Given the description of an element on the screen output the (x, y) to click on. 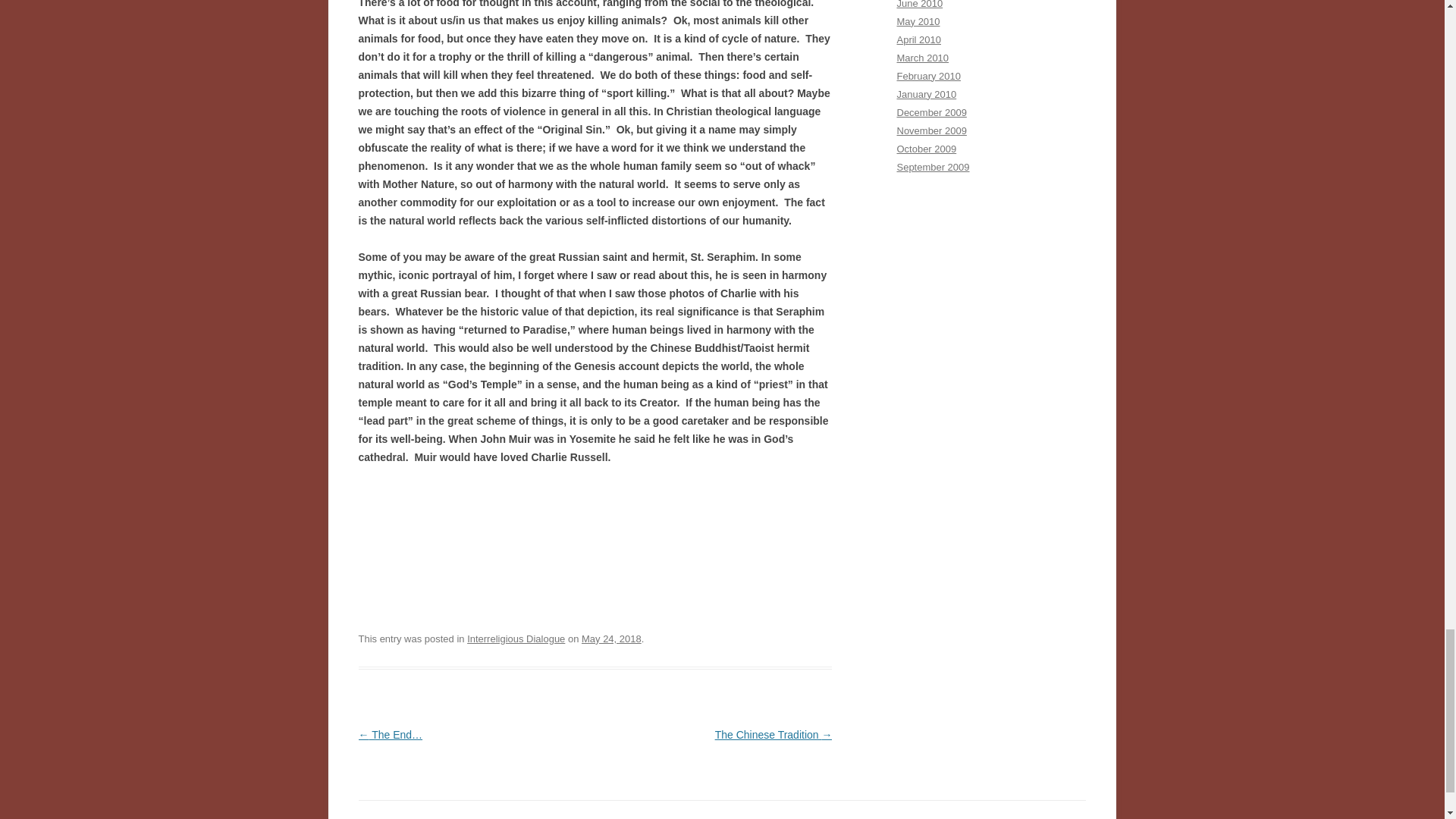
Interreligious Dialogue (515, 638)
May 24, 2018 (611, 638)
10:45 am (611, 638)
